Given the description of an element on the screen output the (x, y) to click on. 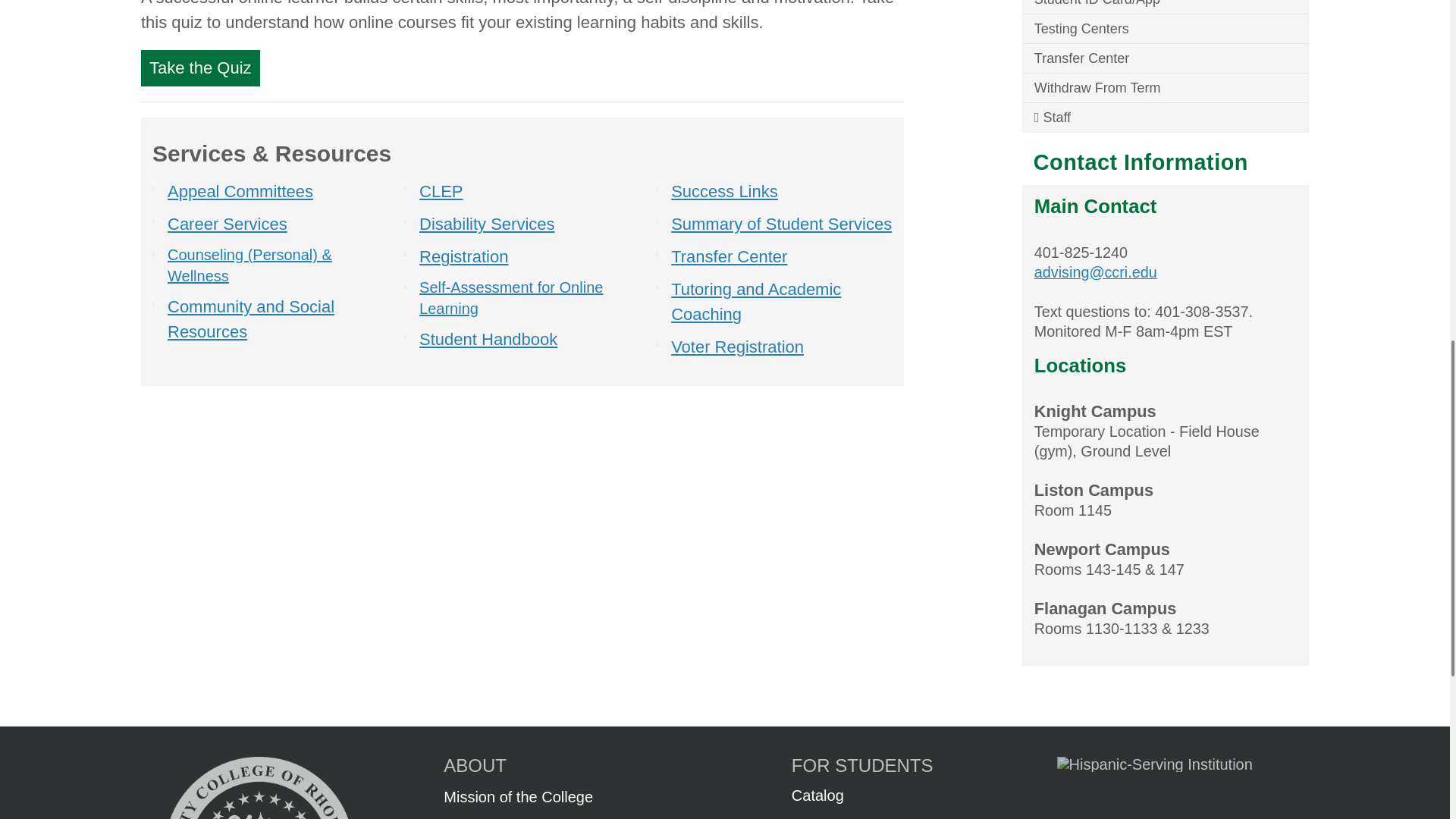
Hispanic-Serving Institution (1150, 764)
